Given the description of an element on the screen output the (x, y) to click on. 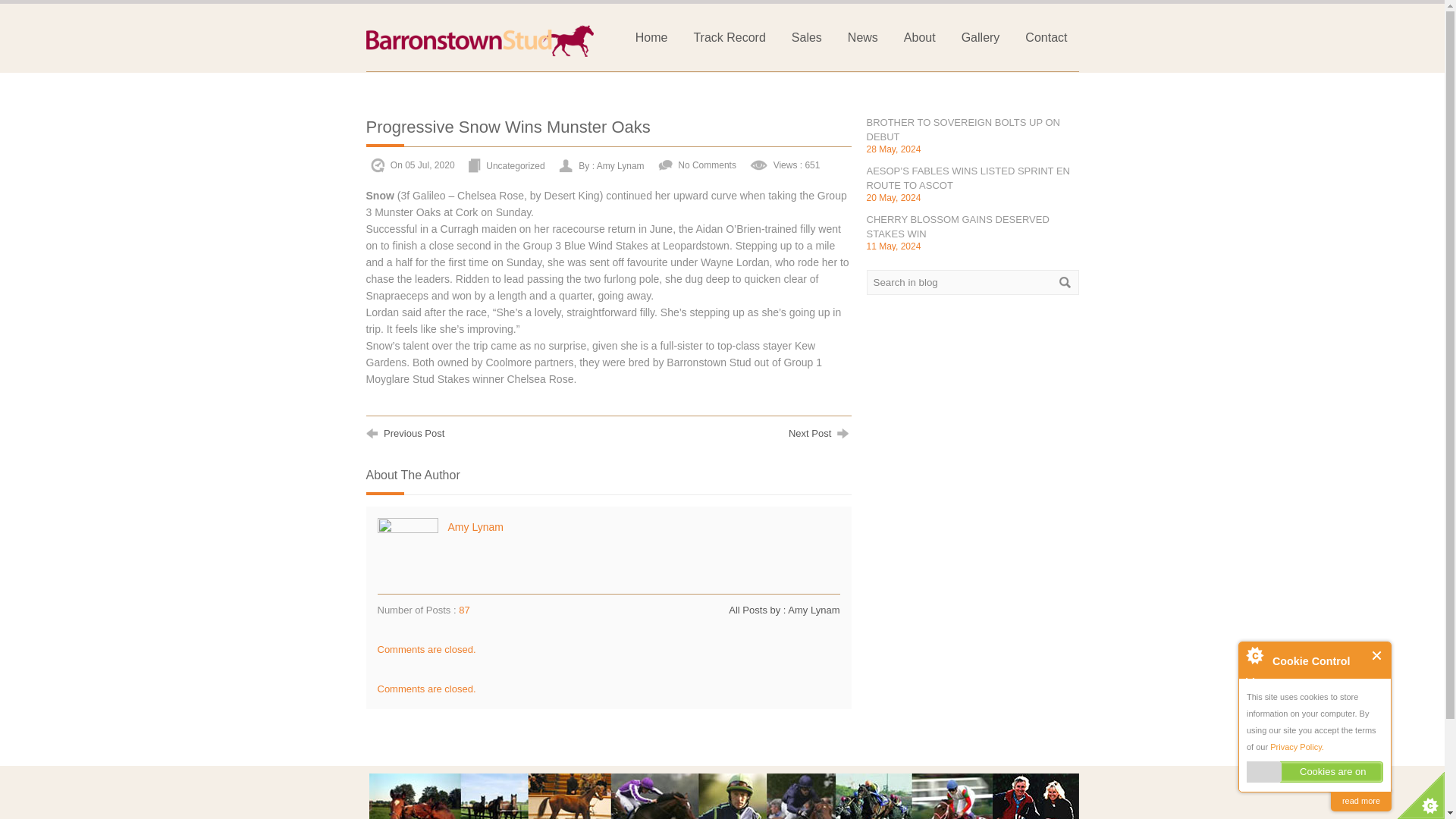
Next Post  (820, 431)
Cookies are on (1314, 772)
All Posts by : Amy Lynam (784, 609)
Close (1377, 655)
Contact (1045, 36)
CHERRY BLOSSOM GAINS DESERVED STAKES WIN (957, 226)
Search in blog (972, 282)
Gallery (980, 36)
Search in blog (972, 282)
Uncategorized (515, 164)
Track Record (728, 36)
BROTHER TO SOVEREIGN BOLTS UP ON DEBUT (962, 129)
Privacy Policy. (1296, 746)
Previous Post (404, 431)
read more (1360, 801)
